Given the description of an element on the screen output the (x, y) to click on. 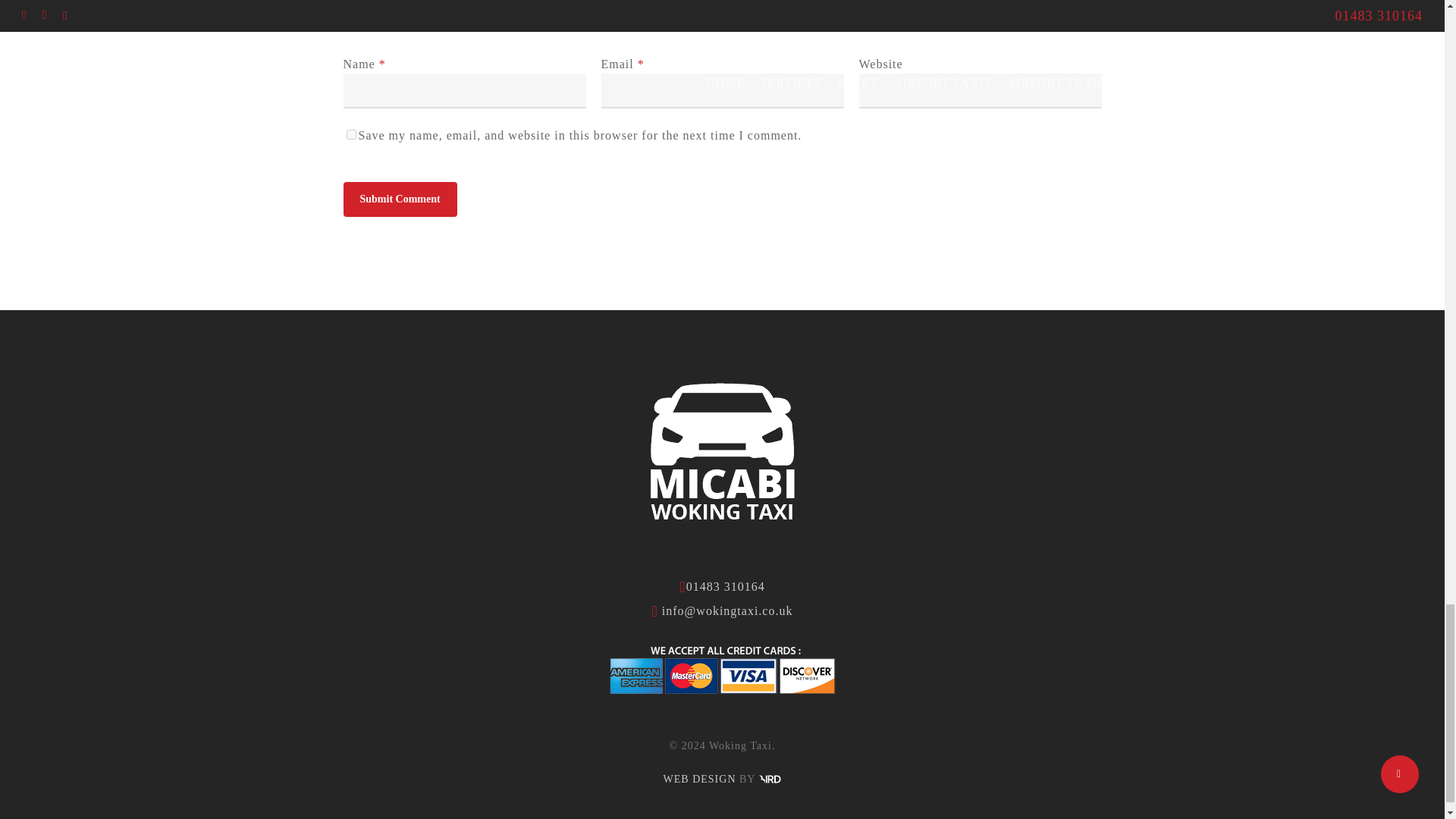
yes (350, 134)
Submit Comment (399, 199)
Submit Comment (399, 199)
